Given the description of an element on the screen output the (x, y) to click on. 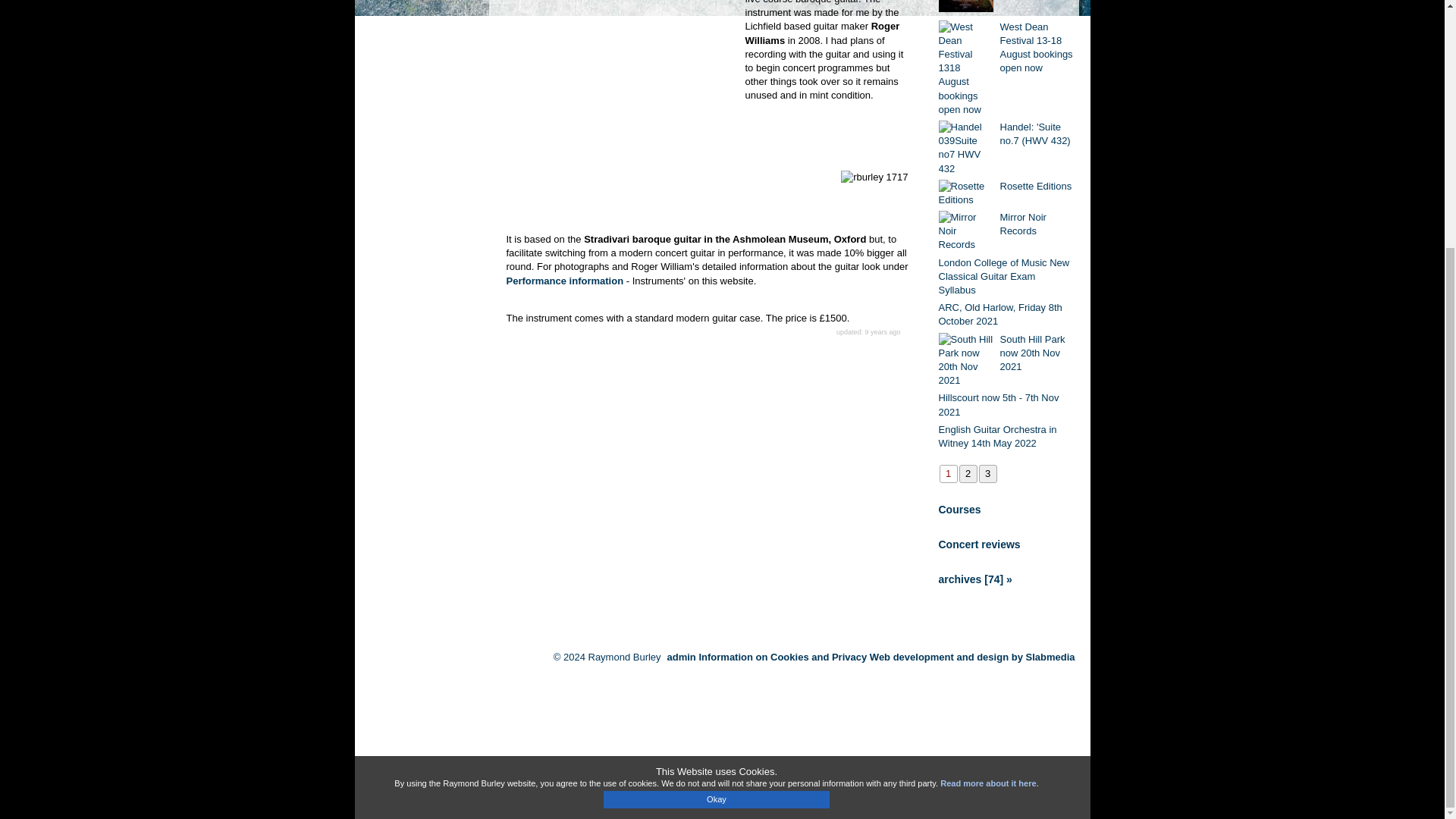
West Dean Festival 13-18 August bookings open now (1036, 48)
Rosette Editions (1036, 186)
Hillscourt now 5th - 7th Nov 2021 (1007, 404)
Mirror Noir Records (1036, 224)
South Hill Park now 20th Nov 2021 (1036, 353)
ARC, Old Harlow, Friday 8th October 2021 (1007, 314)
London College of Music New Classical Guitar Exam Syllabus (1007, 277)
Performance information (565, 280)
2 (967, 474)
English Guitar Orchestra in Witney 14th May 2022 (1007, 436)
1 (947, 474)
